Given the description of an element on the screen output the (x, y) to click on. 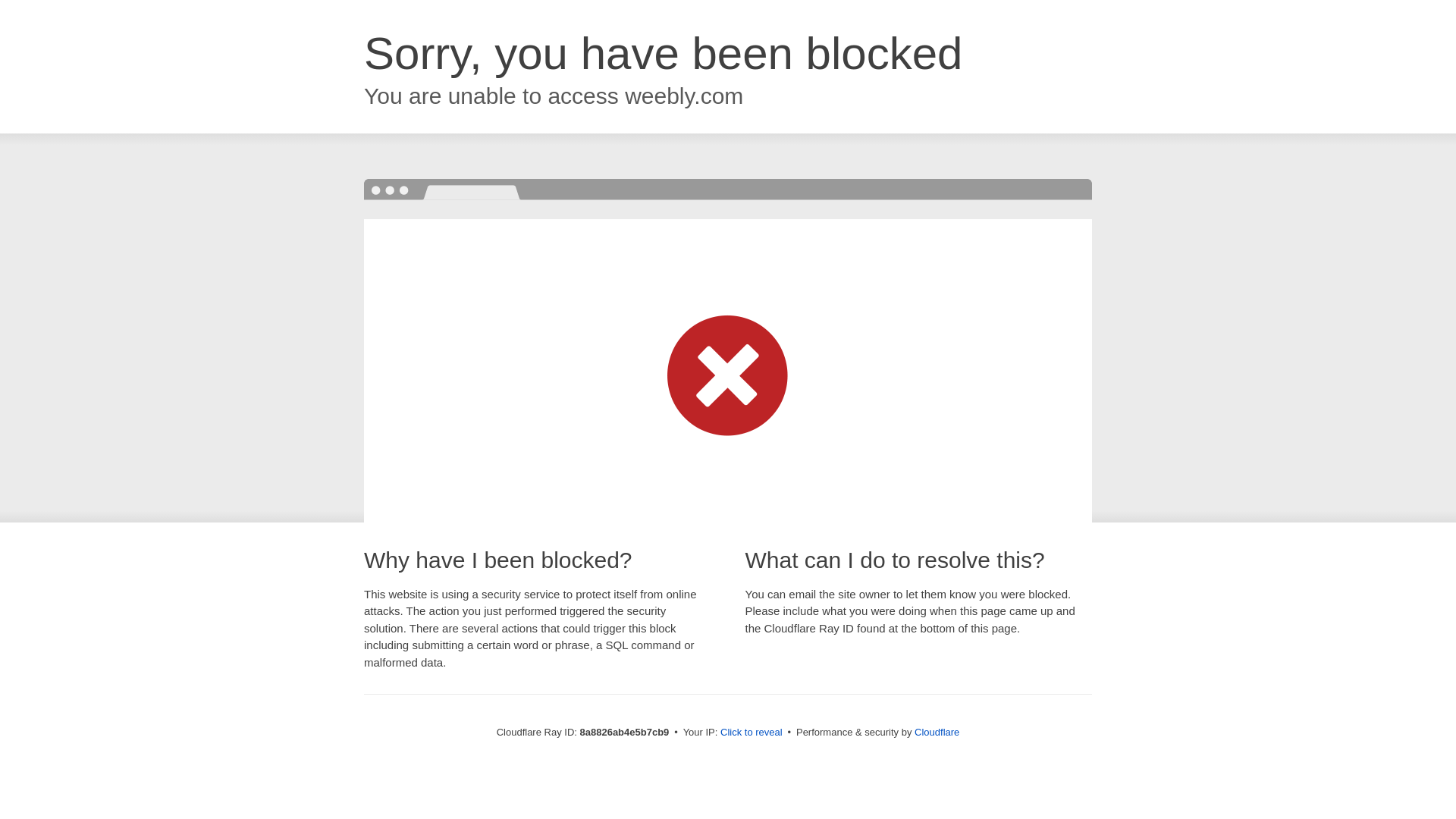
Cloudflare (936, 731)
Click to reveal (751, 732)
